Given the description of an element on the screen output the (x, y) to click on. 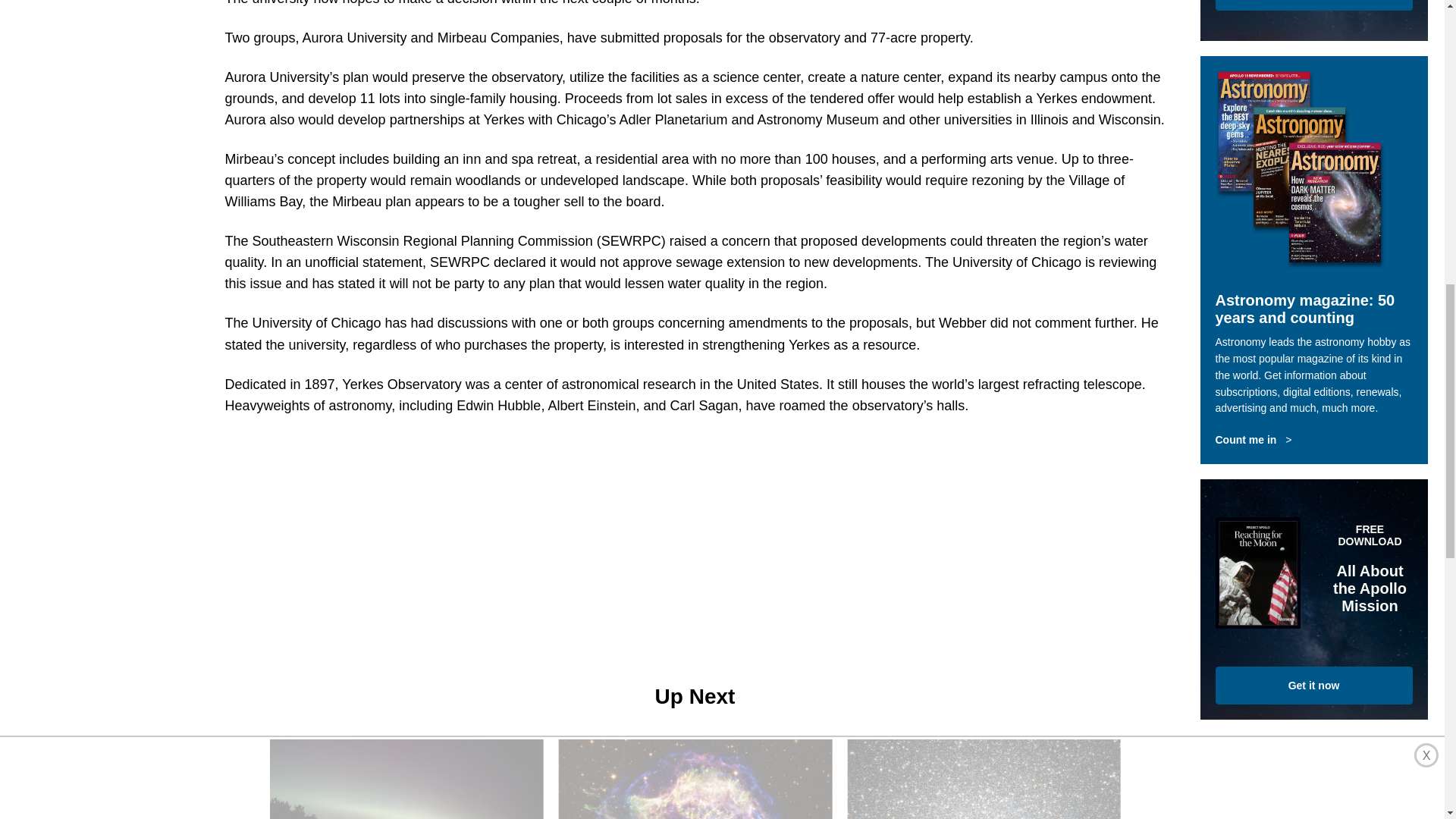
3rd party ad content (695, 529)
Sign Up (1313, 5)
